Given the description of an element on the screen output the (x, y) to click on. 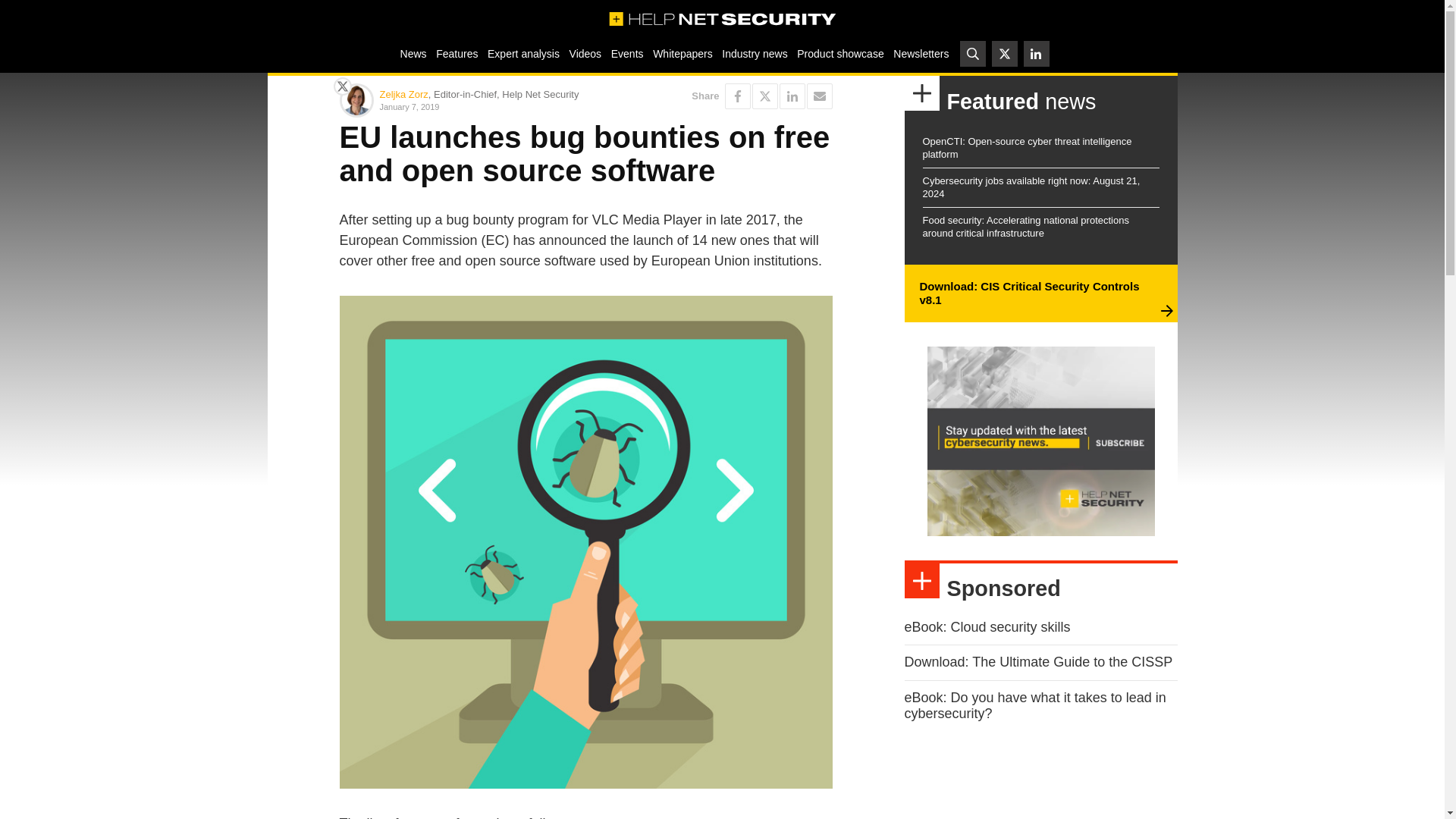
Download: CIS Critical Security Controls v8.1 (1028, 293)
Industry news (754, 53)
Whitepapers (682, 53)
Videos (584, 53)
OpenCTI: Open-source cyber threat intelligence platform (1026, 147)
Zeljka Zorz (403, 93)
eBook: Cloud security skills (987, 626)
Expert analysis (523, 53)
